Given the description of an element on the screen output the (x, y) to click on. 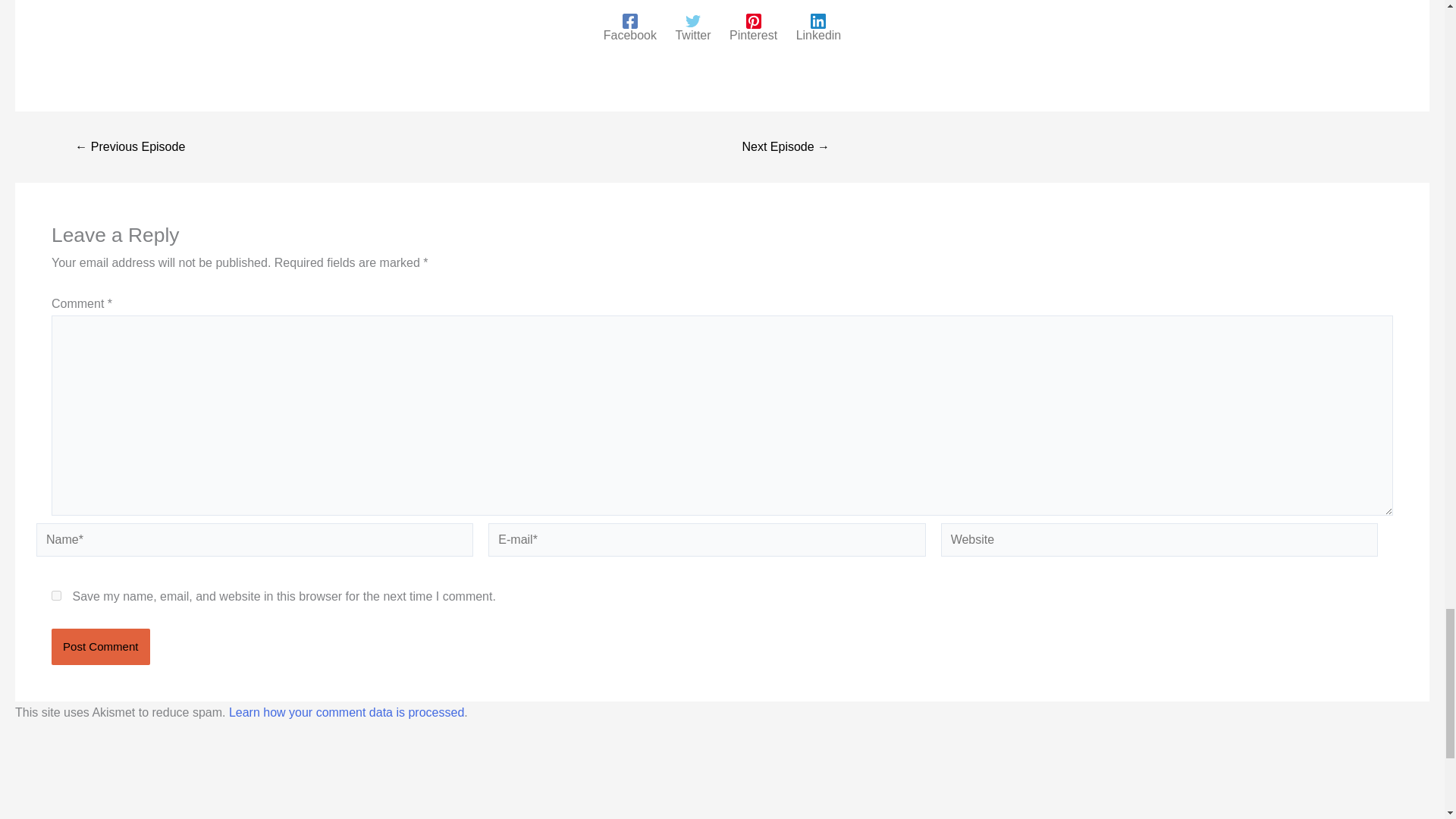
yes (55, 594)
Post Comment (99, 646)
